Given the description of an element on the screen output the (x, y) to click on. 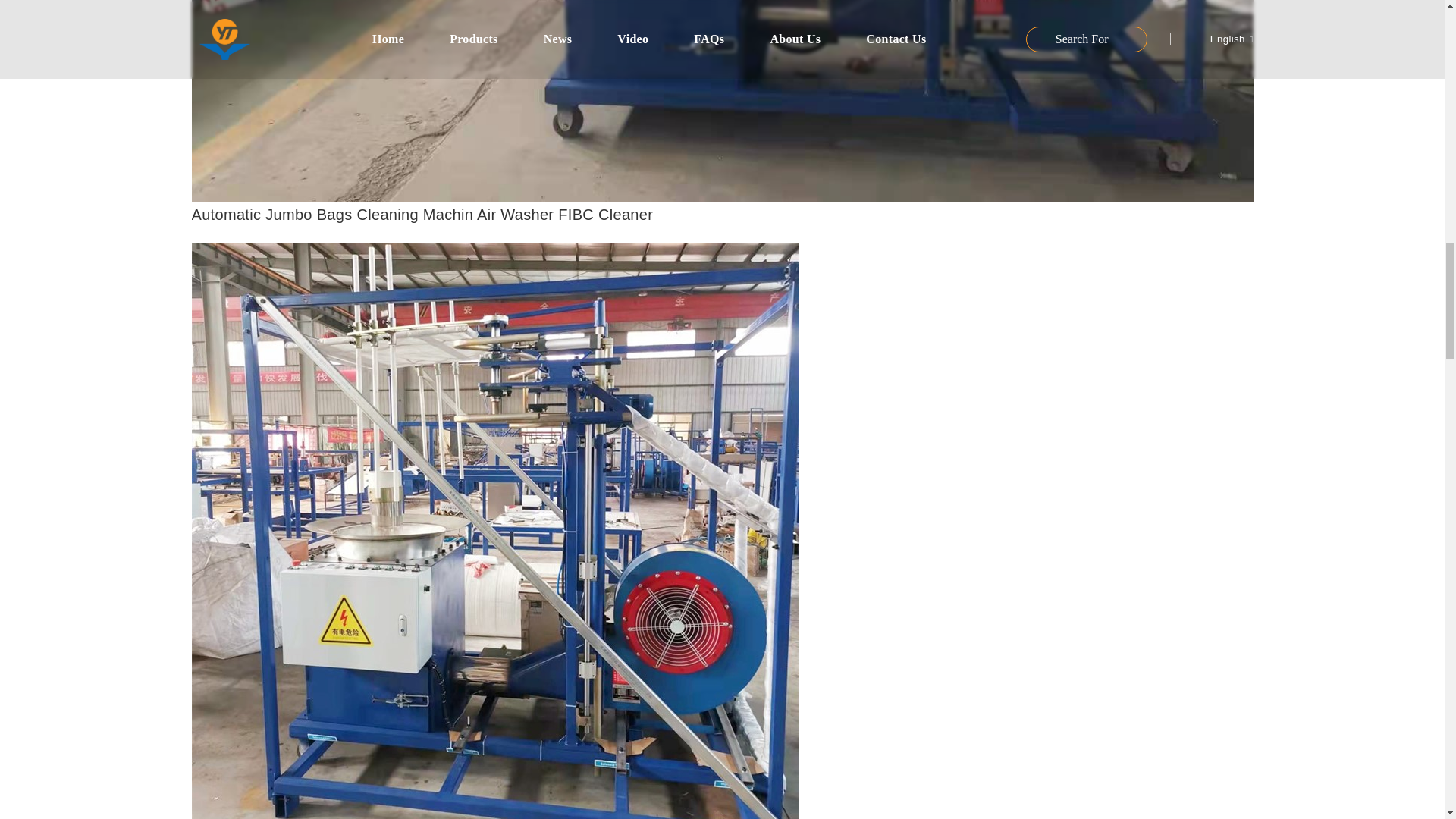
FIBC BULK BAG AIR WASHER  (493, 554)
